Given the description of an element on the screen output the (x, y) to click on. 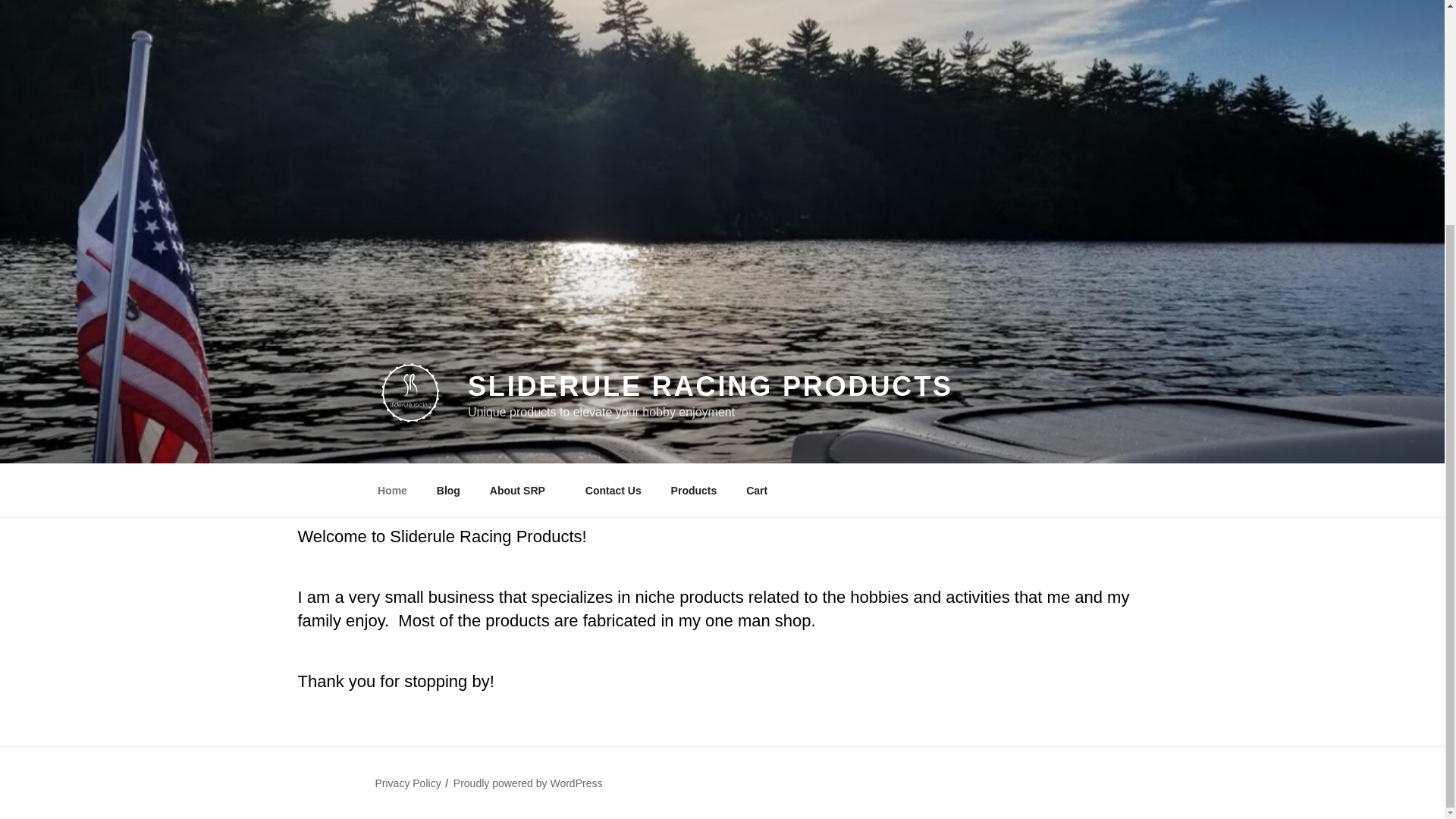
Blog (448, 490)
About SRP (522, 490)
Home (392, 490)
Proudly powered by WordPress (527, 783)
SLIDERULE RACING PRODUCTS (710, 386)
Products (694, 490)
Contact Us (612, 490)
Cart (756, 490)
Privacy Policy (407, 783)
